Given the description of an element on the screen output the (x, y) to click on. 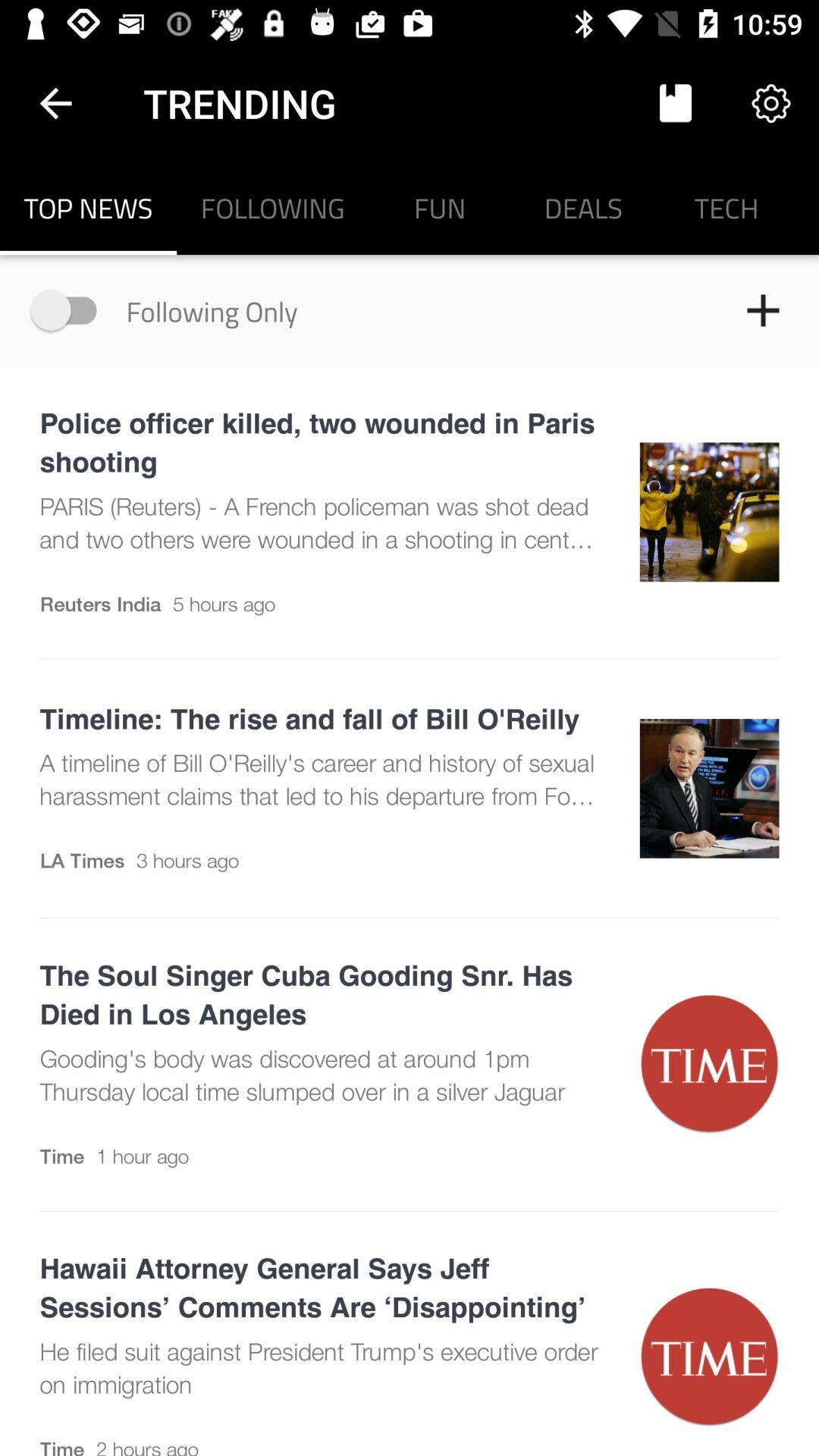
turn on following only (70, 310)
